Given the description of an element on the screen output the (x, y) to click on. 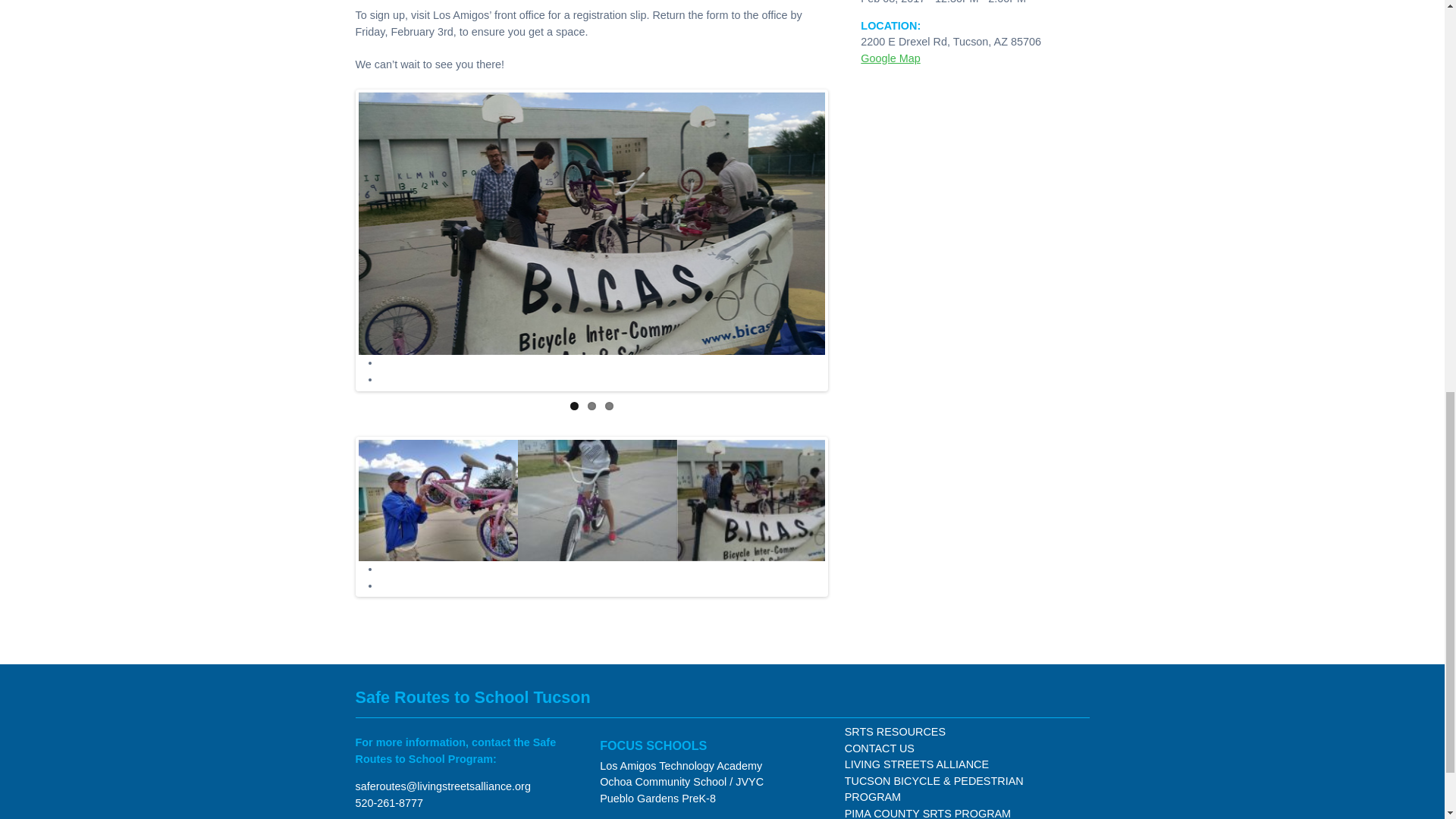
SRTS RESOURCES (894, 731)
LIVING STREETS ALLIANCE (916, 764)
1 (574, 406)
3 (608, 406)
Resources (894, 731)
Los Amigos Technology Academy (680, 766)
Pueblo Gardens PreK-8 (657, 798)
CONTACT US (879, 748)
PIMA COUNTY SRTS PROGRAM (927, 813)
2 (591, 406)
Google Map (890, 58)
